Given the description of an element on the screen output the (x, y) to click on. 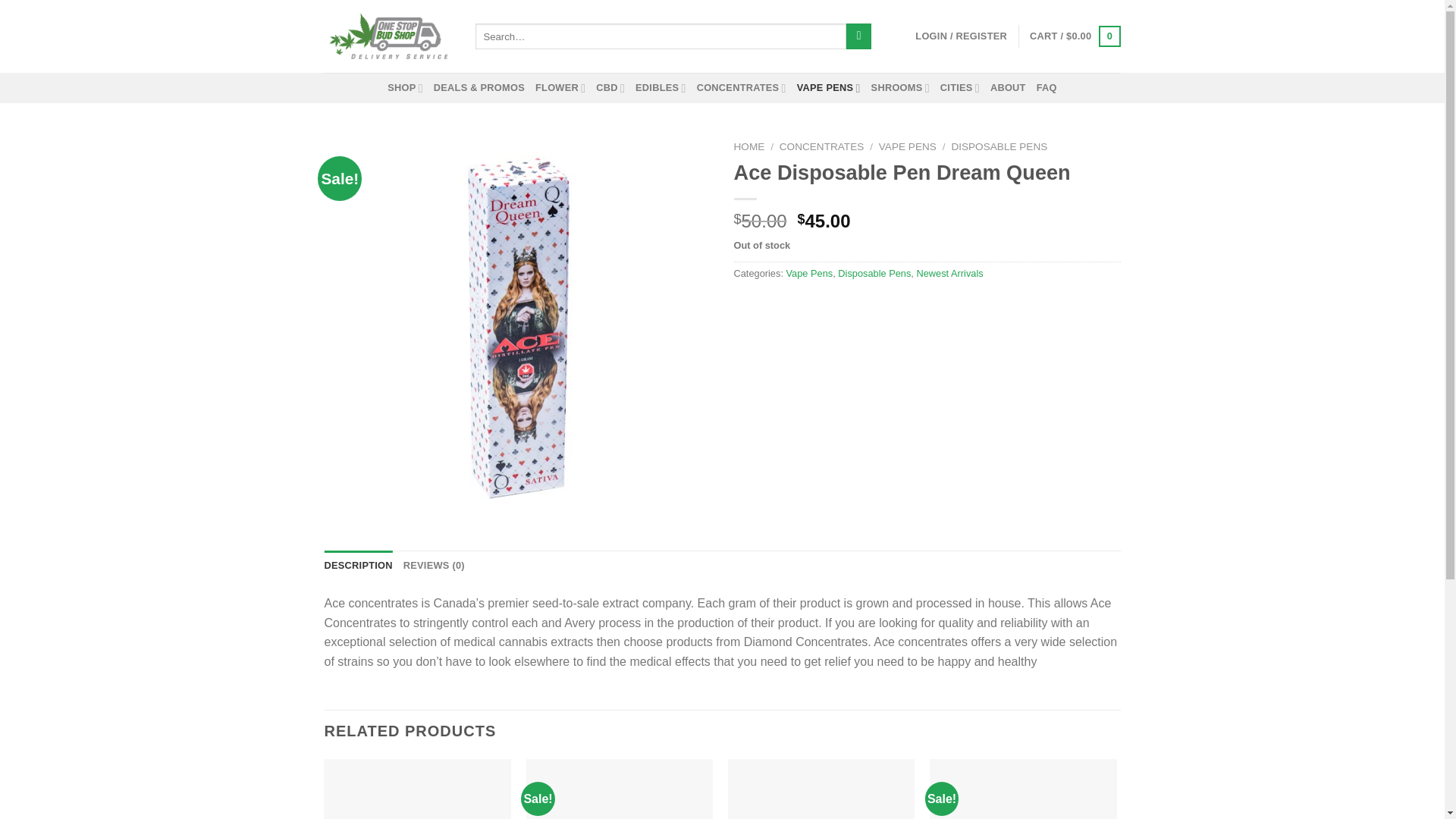
Login (961, 35)
FLOWER (560, 87)
Search (857, 36)
SHOP (405, 87)
CBD (609, 87)
Cart (1074, 36)
